Given the description of an element on the screen output the (x, y) to click on. 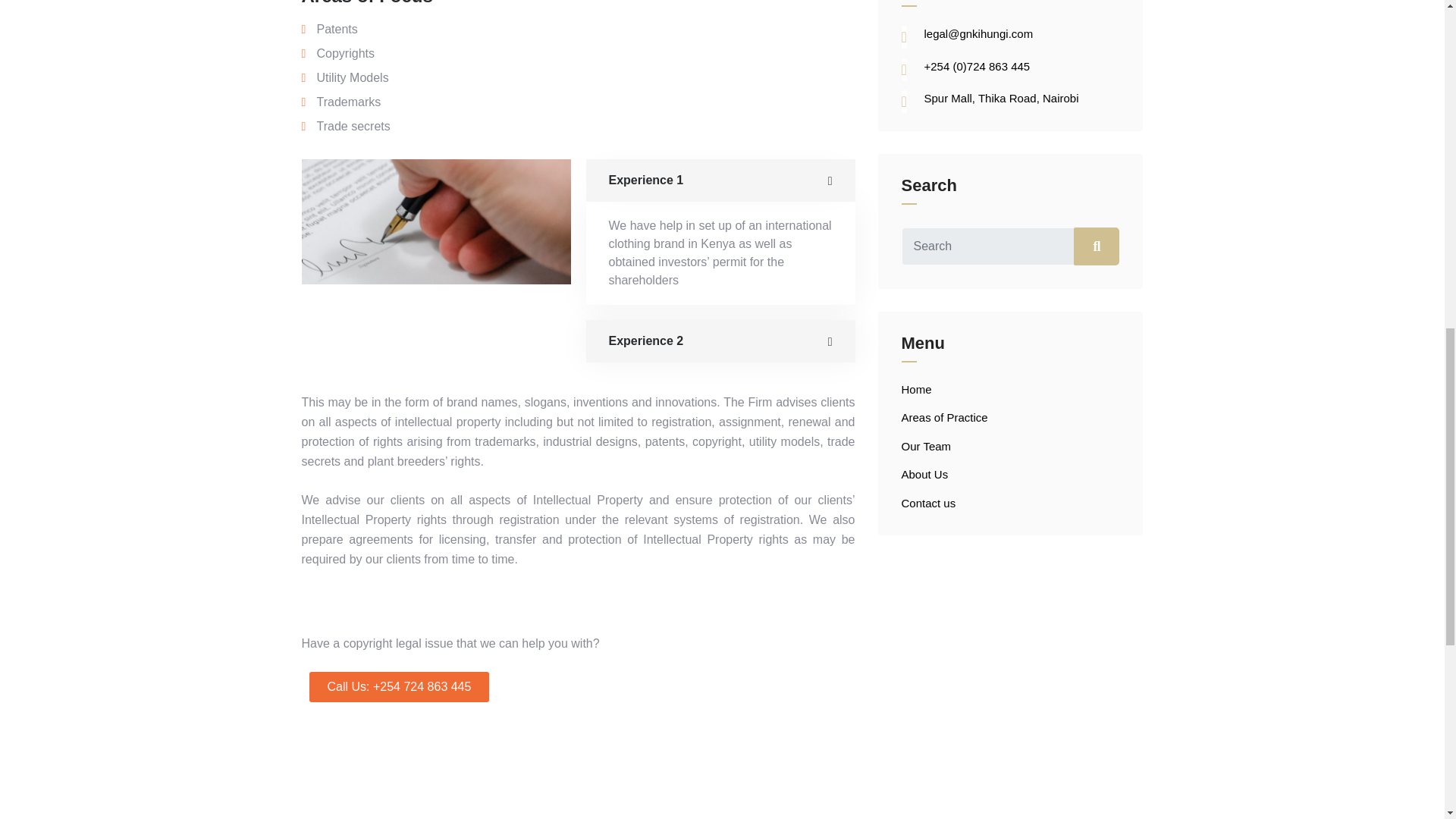
Experience 2 (719, 341)
About Us (924, 473)
Experience 1 (719, 179)
Areas of Practice (944, 417)
Contact us (928, 502)
Our Team (925, 445)
Home (916, 388)
